Given the description of an element on the screen output the (x, y) to click on. 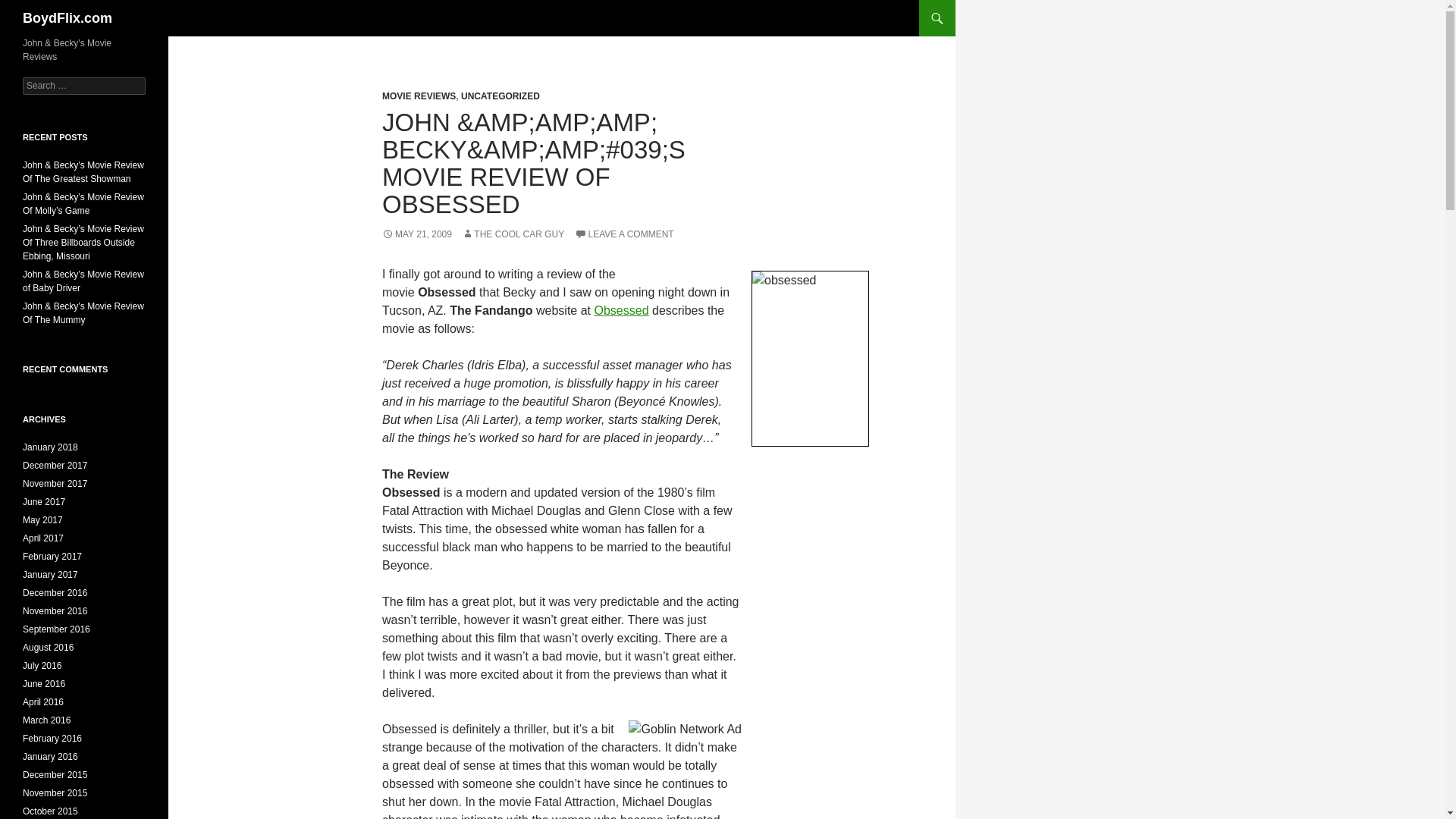
Obsessed (620, 309)
June 2017 (44, 501)
May 2017 (42, 520)
February 2017 (52, 556)
UNCATEGORIZED (500, 95)
BoydFlix.com (67, 18)
December 2017 (55, 465)
MAY 21, 2009 (416, 234)
Search (30, 8)
MOVIE REVIEWS (418, 95)
